Given the description of an element on the screen output the (x, y) to click on. 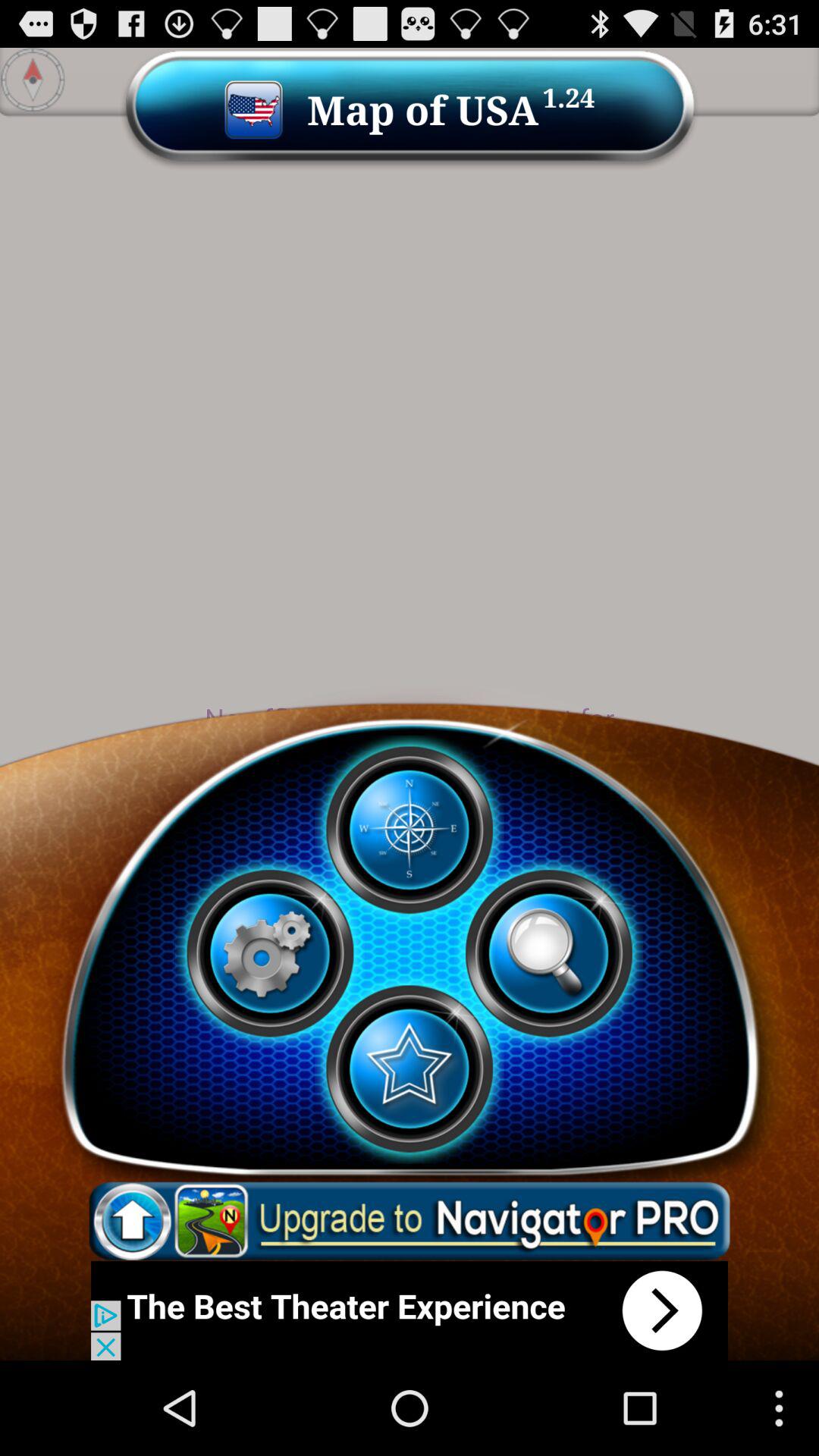
search map (548, 953)
